Given the description of an element on the screen output the (x, y) to click on. 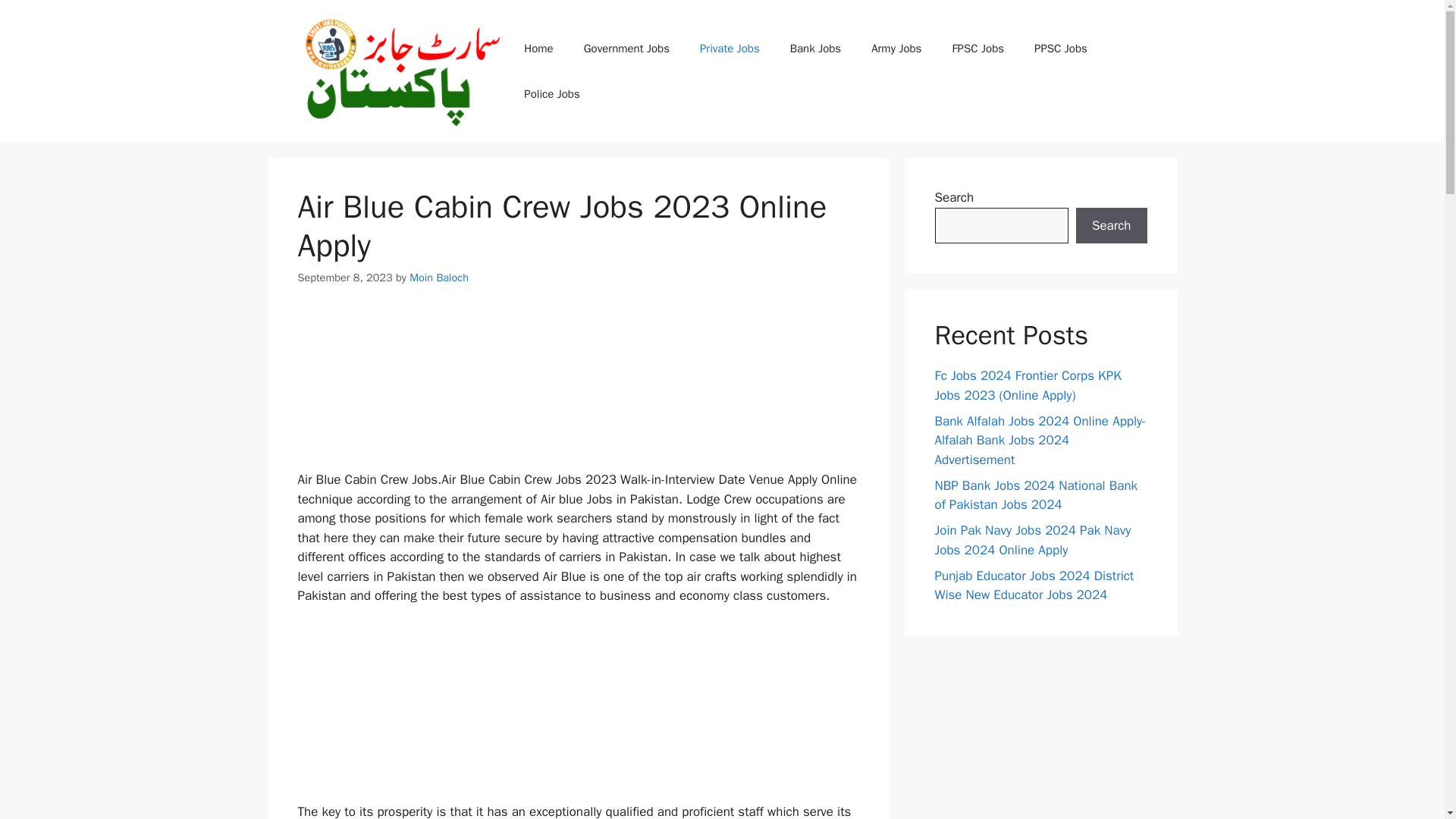
Government Jobs (626, 48)
FPSC Jobs (977, 48)
NBP Bank Jobs 2024 National Bank of Pakistan Jobs 2024 (1035, 495)
Moin Baloch (438, 277)
Police Jobs (551, 94)
Army Jobs (896, 48)
Private Jobs (729, 48)
Home (537, 48)
Join Pak Navy Jobs 2024 Pak Navy Jobs 2024 Online Apply (1032, 539)
PPSC Jobs (1060, 48)
Bank Jobs (815, 48)
View all posts by Moin Baloch (438, 277)
Search (1111, 226)
